Given the description of an element on the screen output the (x, y) to click on. 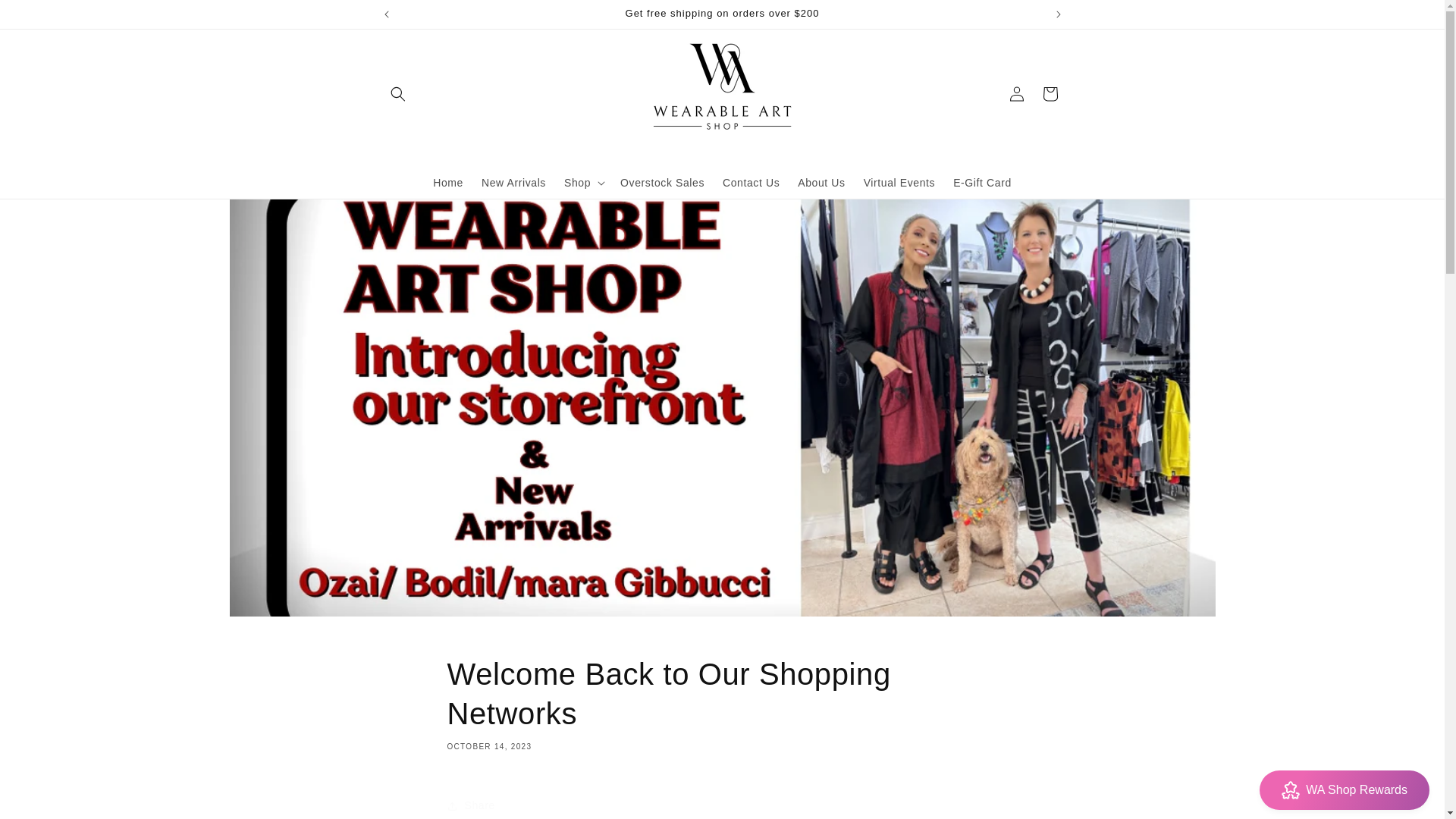
Share (721, 804)
Skip to content (45, 17)
